Given the description of an element on the screen output the (x, y) to click on. 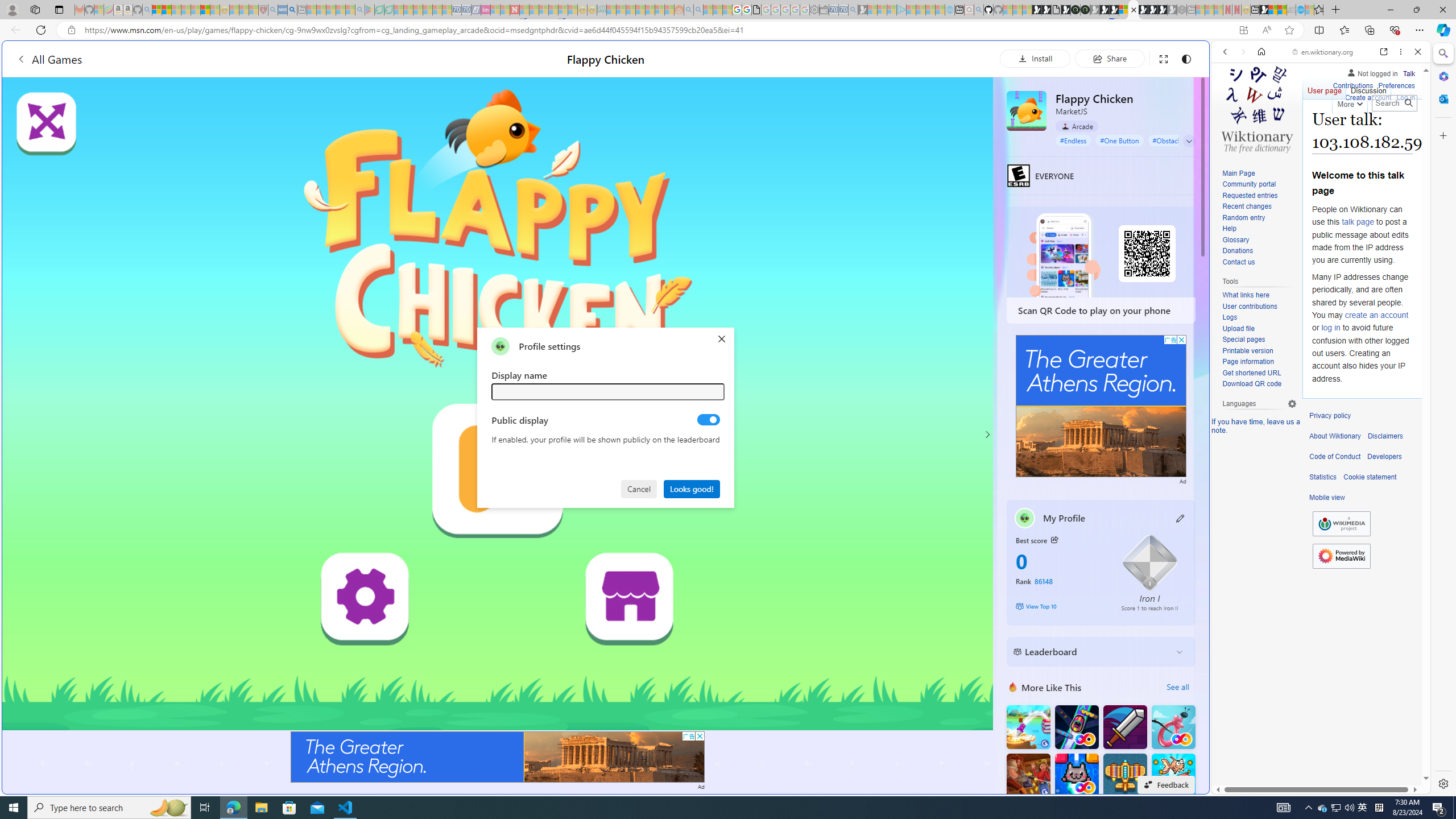
Advertisement (1101, 405)
Main Page (1238, 172)
Advertisement (1101, 405)
Home | Sky Blue Bikes - Sky Blue Bikes - Sleeping (949, 9)
Glossary (1235, 239)
